Given the description of an element on the screen output the (x, y) to click on. 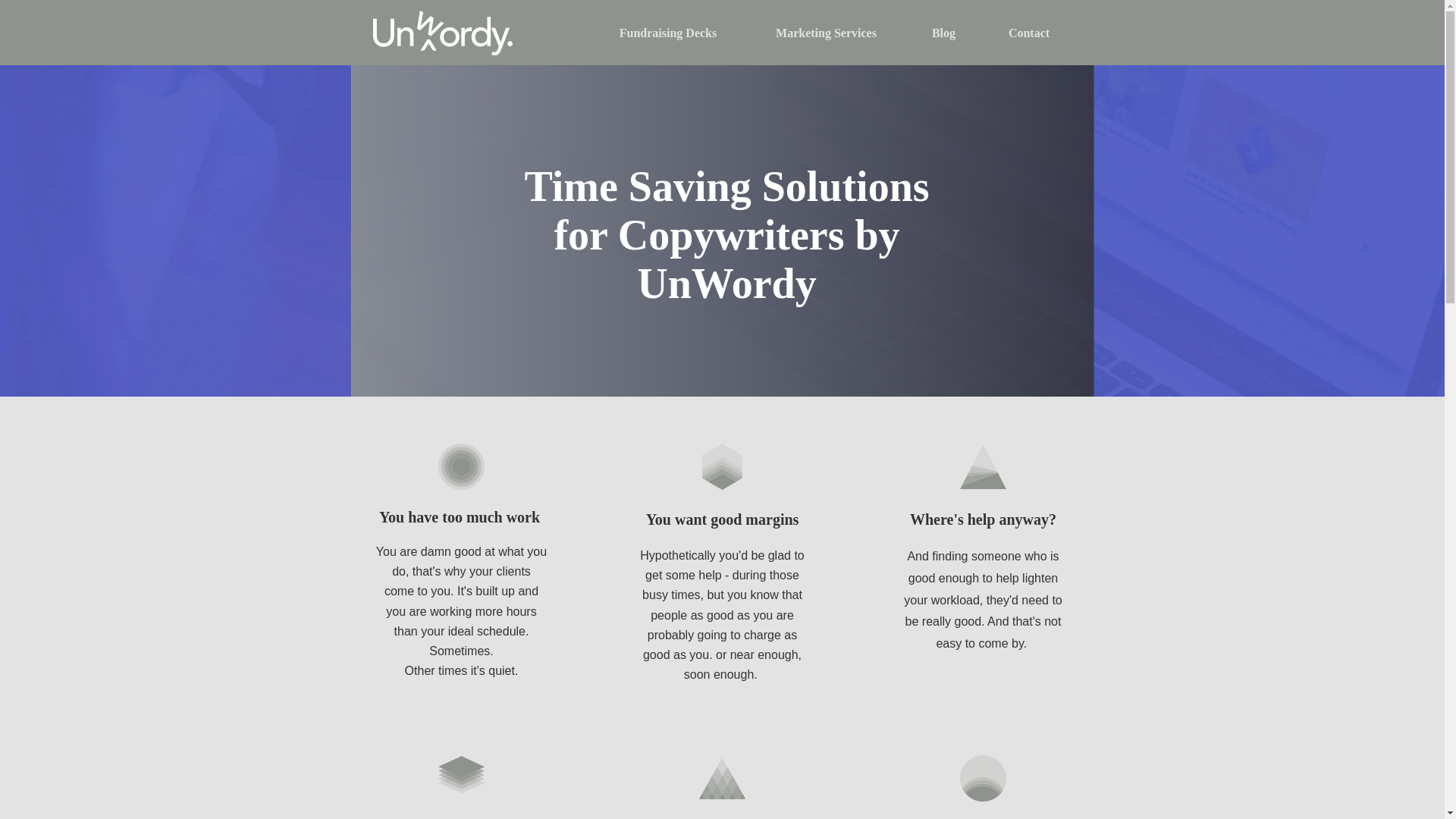
Blog (943, 32)
Contact (1028, 32)
Fundraising Decks (667, 32)
Marketing Services (825, 32)
